Given the description of an element on the screen output the (x, y) to click on. 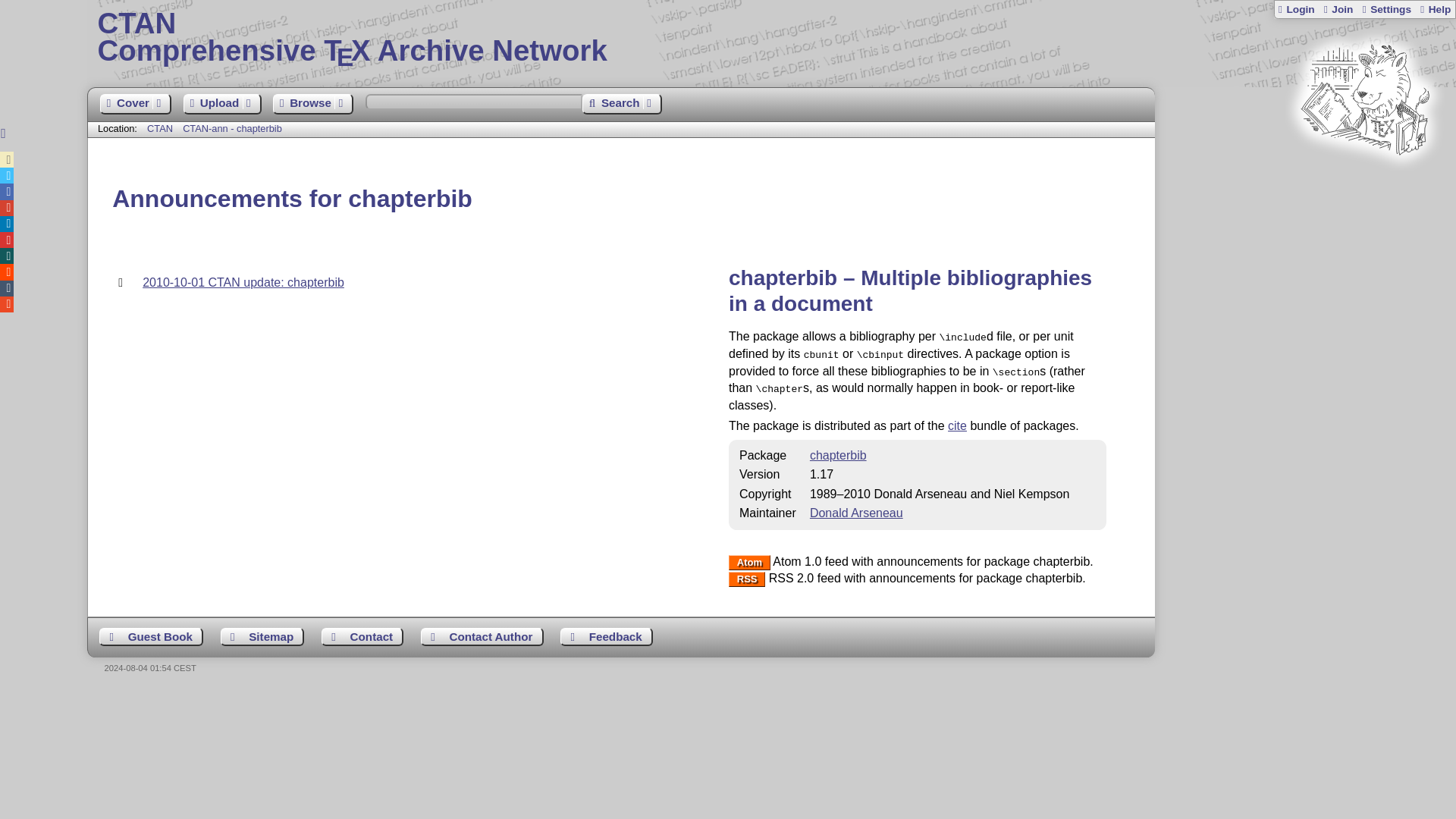
Send feedback on the current web page to the Web masters (606, 637)
Browse (313, 104)
Leave some words for other visitors (771, 37)
Help (151, 637)
CTAN-ann - chapterbib (1434, 8)
cite (232, 128)
Contact (956, 425)
Get contact information for the Web site (362, 637)
Adjust the appearance to your taste (362, 637)
Login (1385, 8)
Join (1296, 8)
chapterbib (1337, 8)
Get some information about this Web site (837, 454)
Atom (1434, 8)
